Given the description of an element on the screen output the (x, y) to click on. 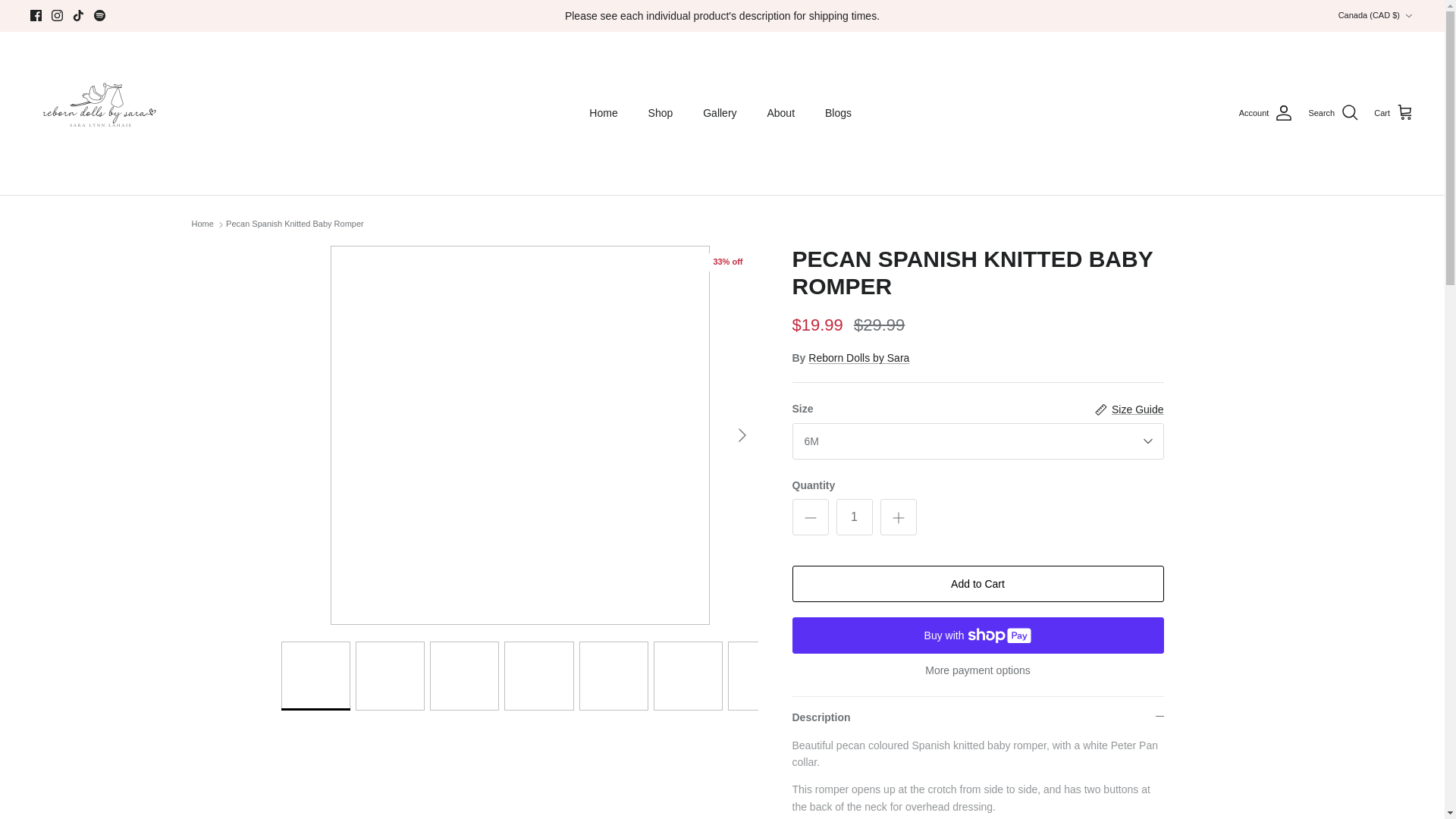
1 (853, 516)
Shop (660, 113)
About (780, 113)
Facebook (36, 15)
Account (1266, 113)
Instagram (56, 15)
Instagram (56, 15)
Blogs (837, 113)
Plus (897, 517)
Reborn Dolls by Sara (96, 112)
